Given the description of an element on the screen output the (x, y) to click on. 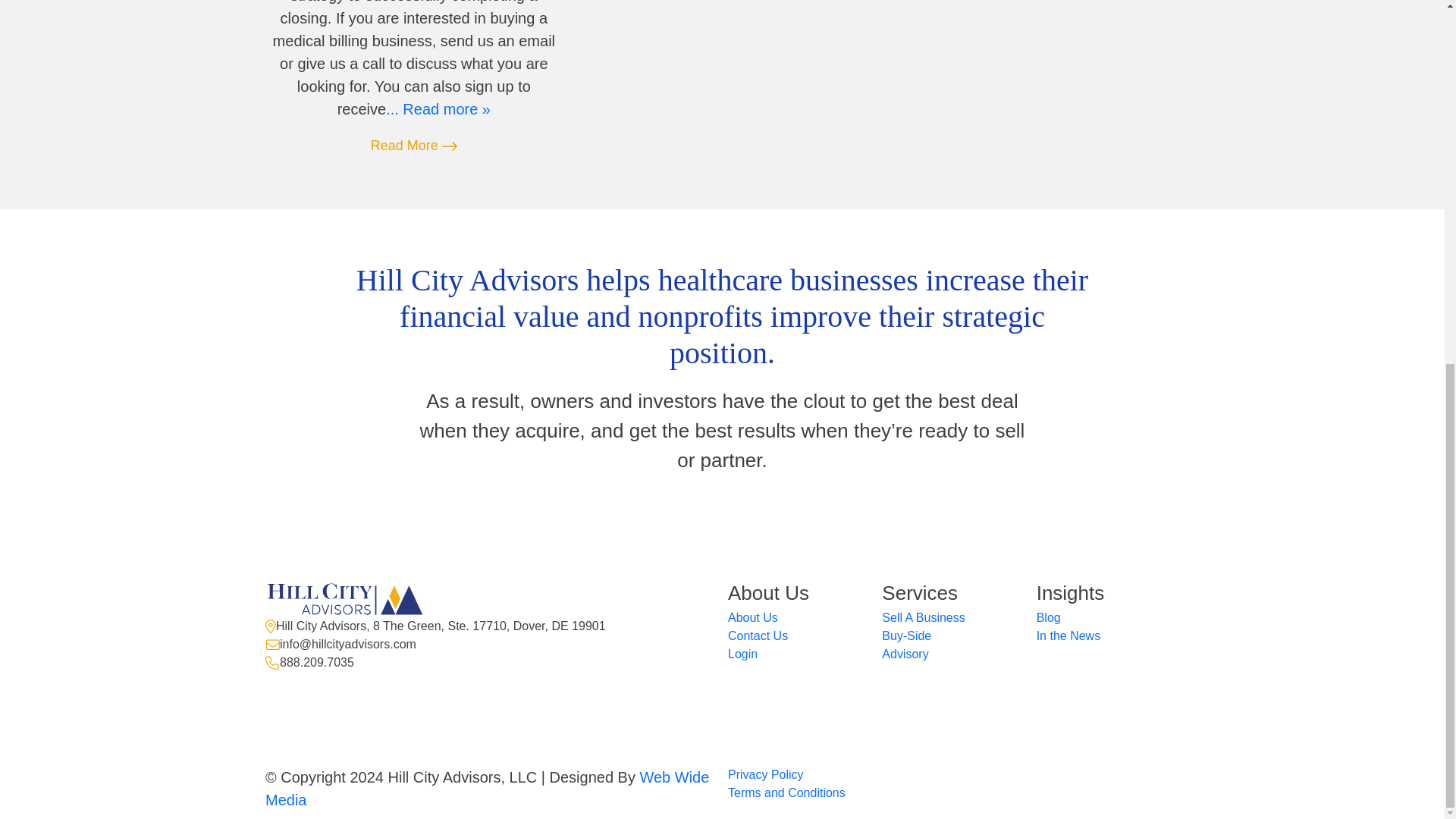
Web Wide Media (486, 788)
Advisory (905, 653)
Blog (1048, 617)
Read More (414, 145)
Buy-Side (906, 635)
ReadBuy a Business V2 (437, 108)
Login (742, 653)
Privacy Policy (765, 774)
Terms and Conditions (786, 792)
Sell A Business (922, 617)
